Given the description of an element on the screen output the (x, y) to click on. 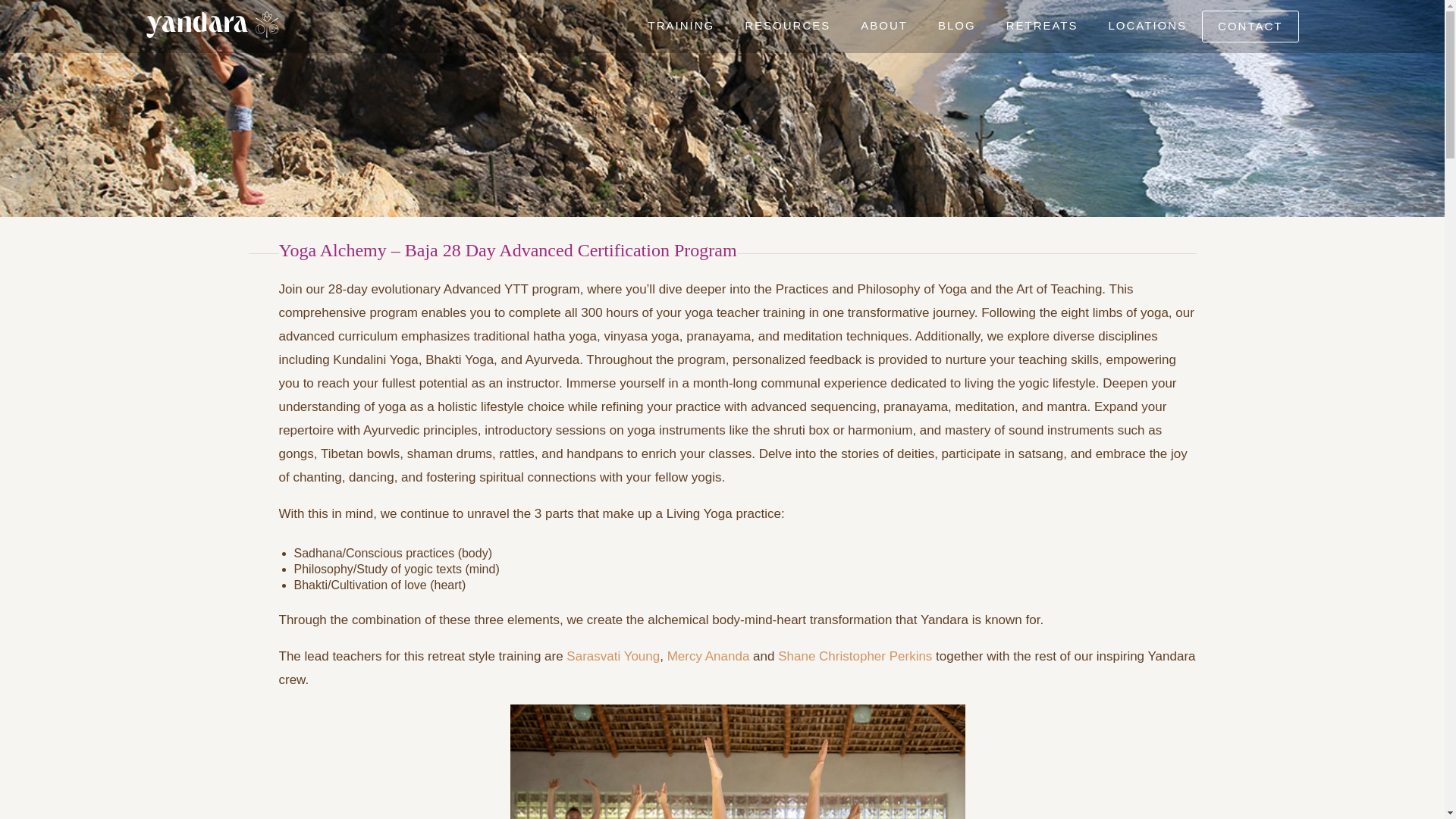
TRAINING (681, 25)
RESOURCES (787, 25)
ABOUT (884, 25)
